Given the description of an element on the screen output the (x, y) to click on. 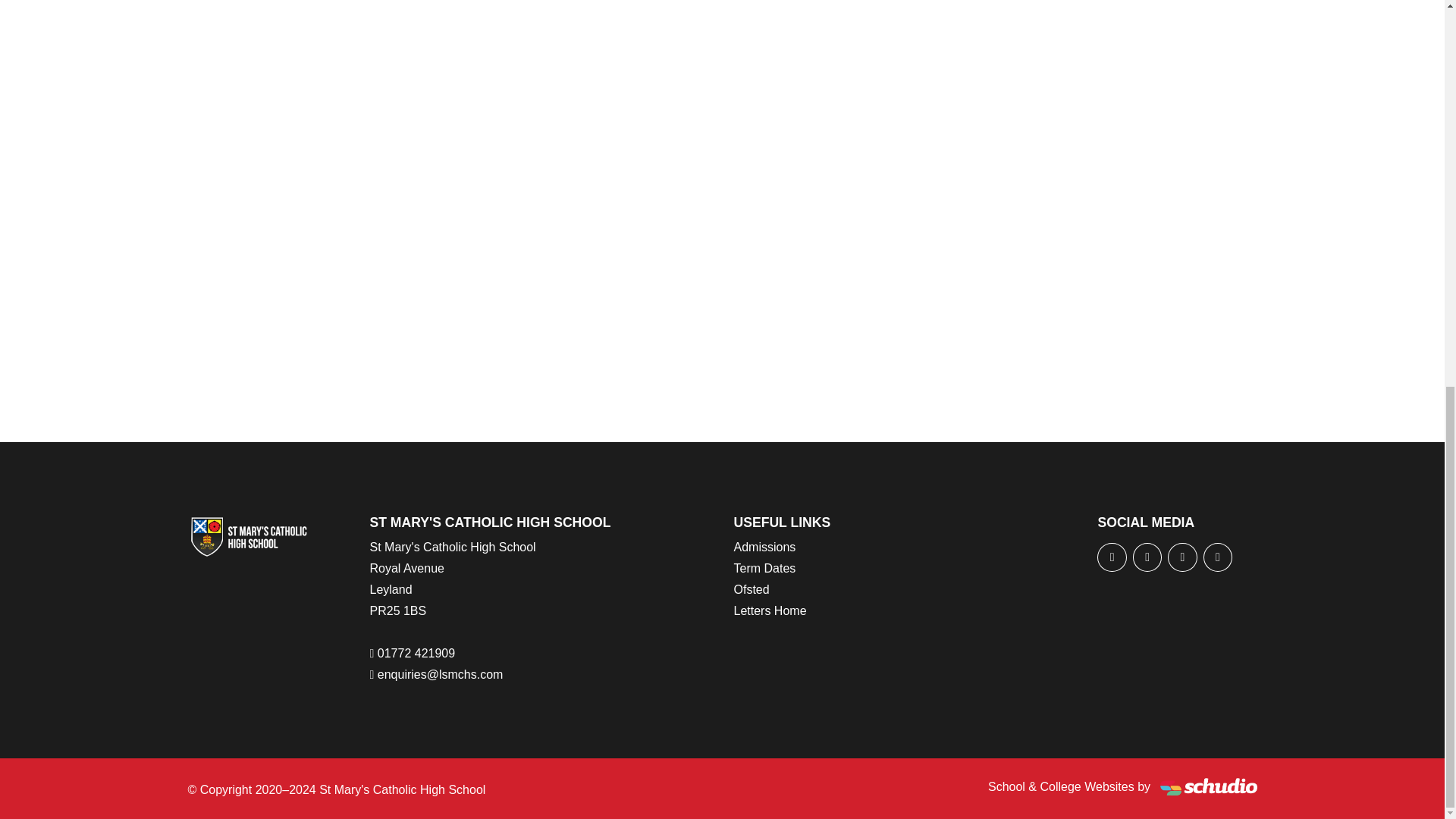
Instagram (1217, 556)
Facebook (1111, 556)
Youtube (1181, 556)
X (1146, 556)
